Given the description of an element on the screen output the (x, y) to click on. 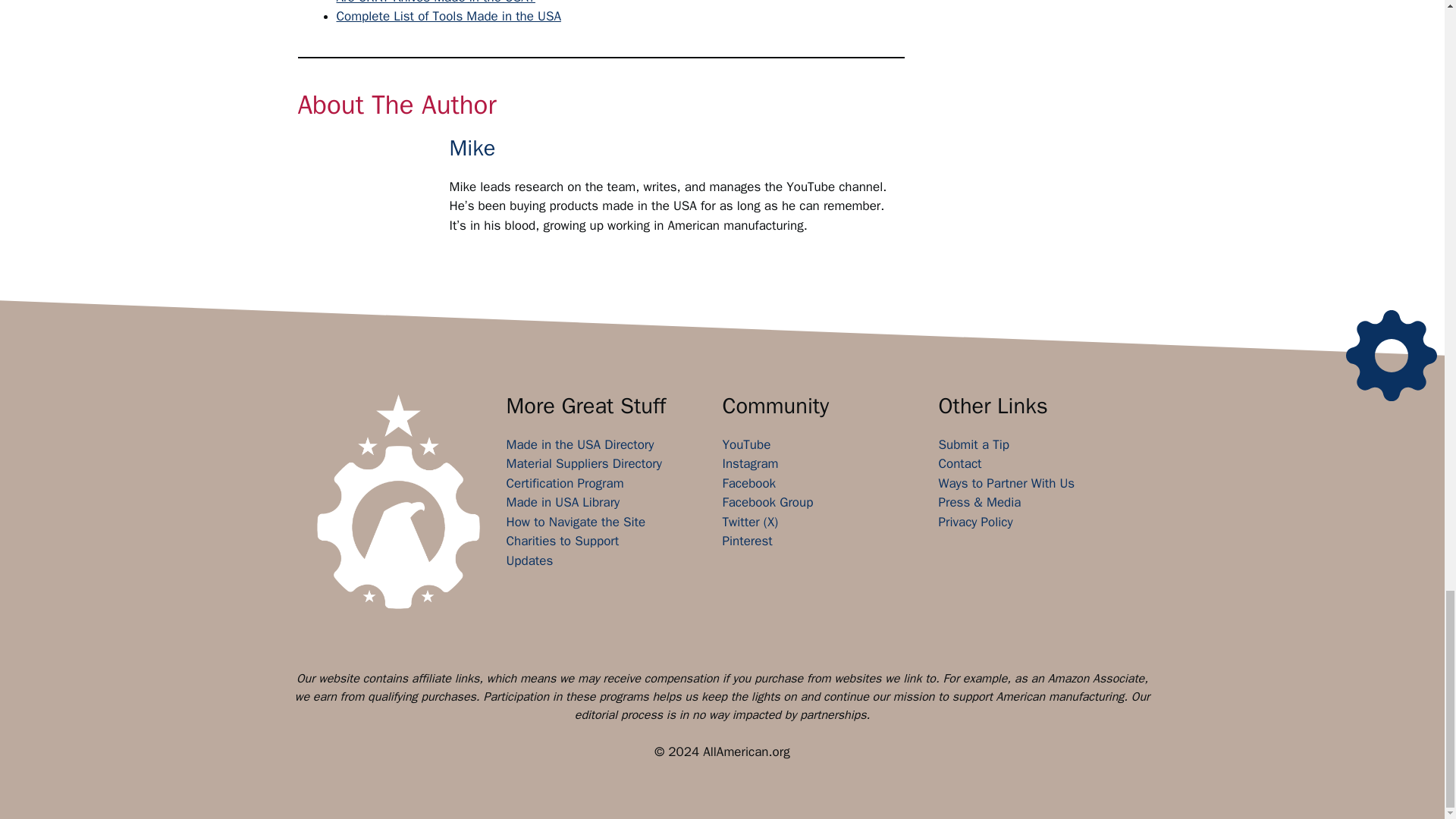
Complete List of Tools Made in the USA (448, 16)
Are CRKT Knives Made in the USA? (435, 2)
Mike (471, 148)
